Given the description of an element on the screen output the (x, y) to click on. 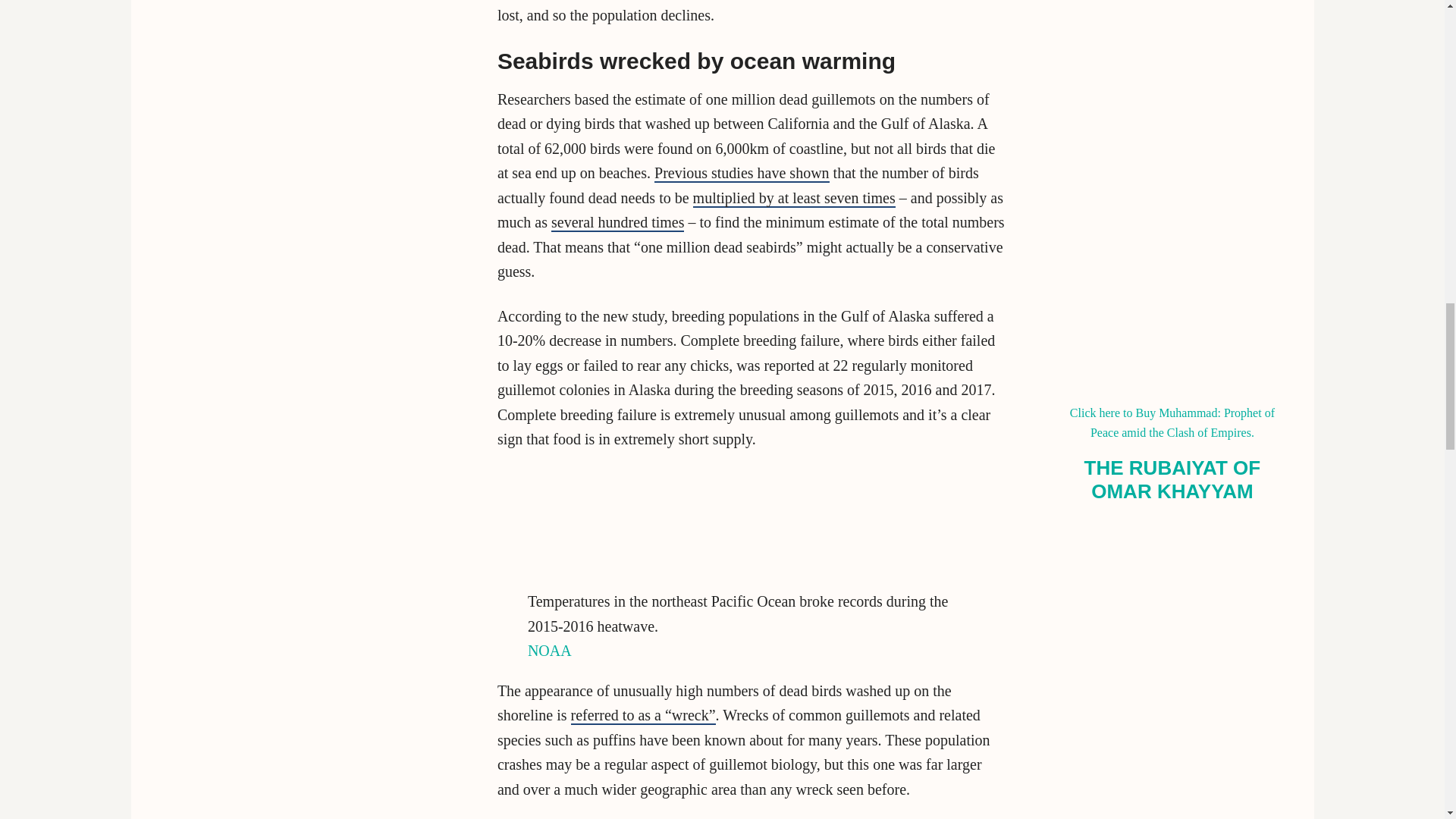
several hundred times (617, 222)
Previous studies have shown (741, 173)
multiplied by at least seven times (794, 198)
